Given the description of an element on the screen output the (x, y) to click on. 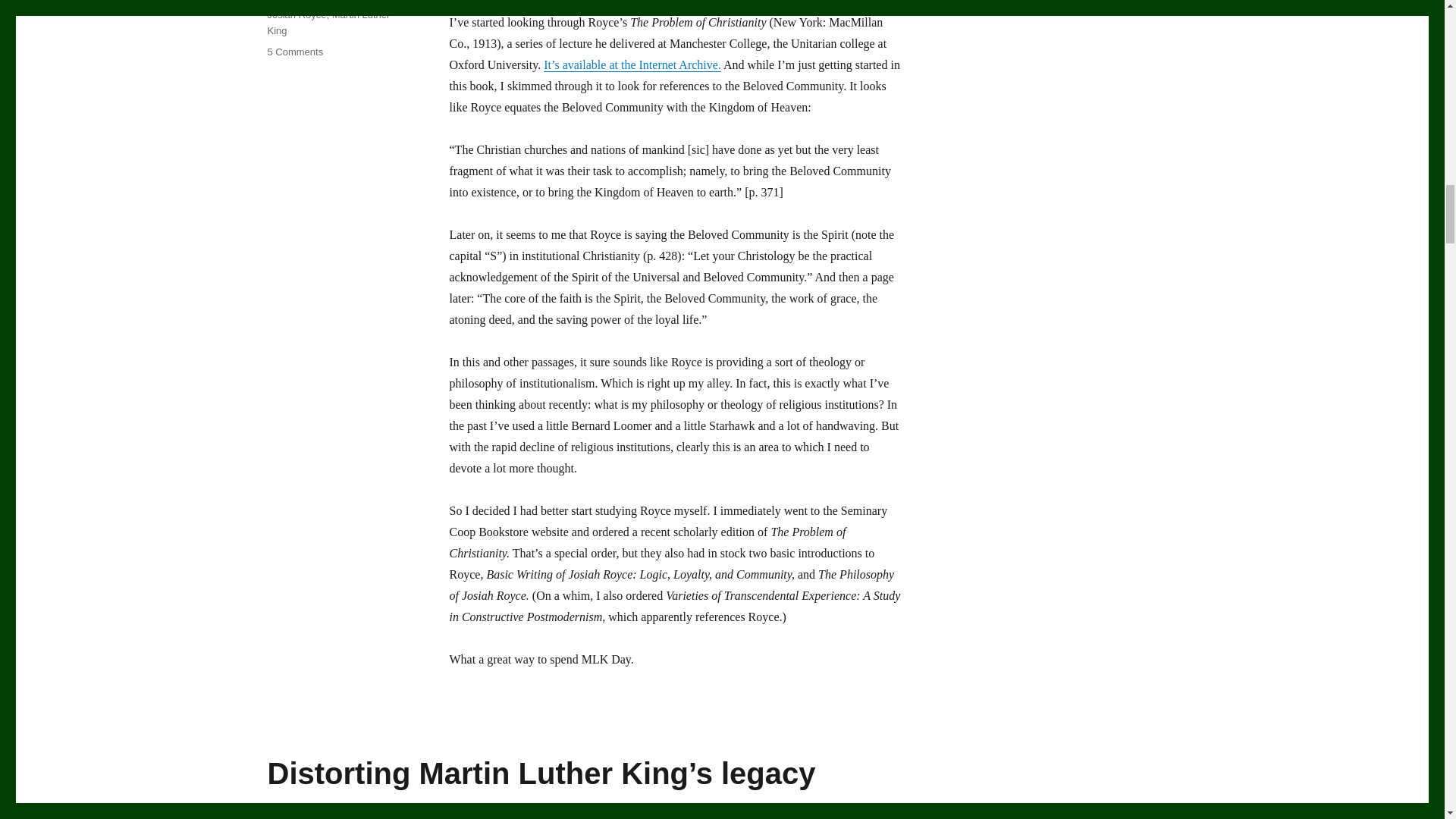
institutionalism (352, 2)
Martin Luther King (294, 51)
Josiah Royce (328, 22)
community (296, 14)
